Given the description of an element on the screen output the (x, y) to click on. 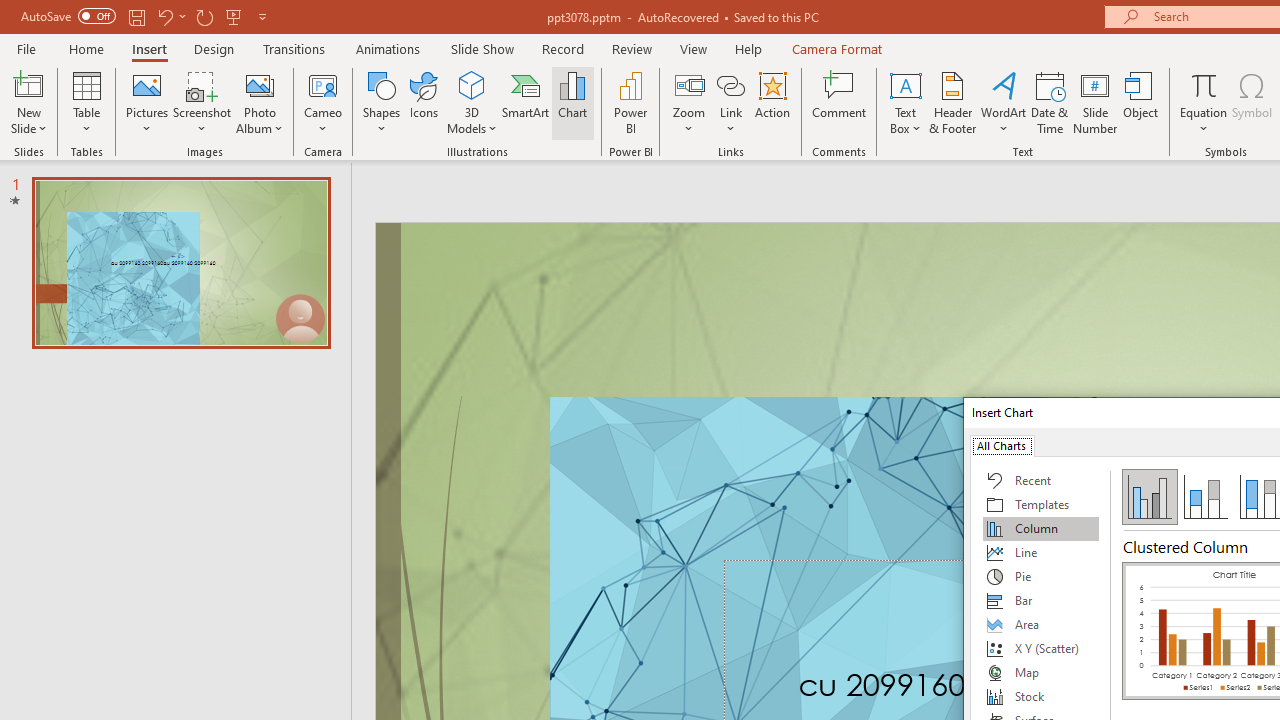
Column (1041, 528)
Date & Time... (1050, 102)
Photo Album... (259, 102)
All Charts (1001, 444)
Stock (1041, 696)
Pie (1041, 576)
Action (772, 102)
